Given the description of an element on the screen output the (x, y) to click on. 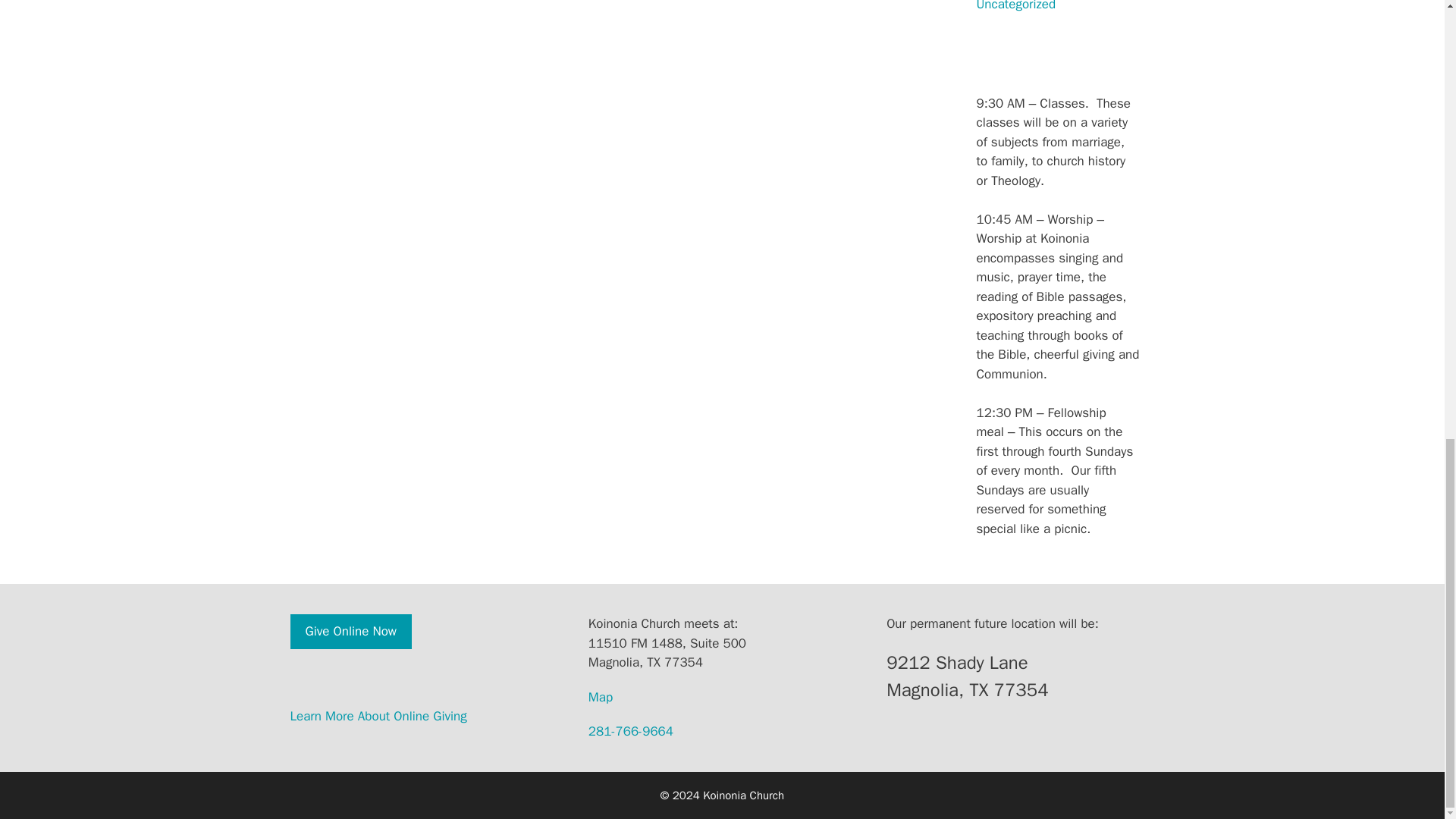
Map (600, 697)
Learn More About Online Giving (377, 715)
Uncategorized (1016, 6)
Give Online Now (350, 631)
281-766-9664 (630, 731)
